Given the description of an element on the screen output the (x, y) to click on. 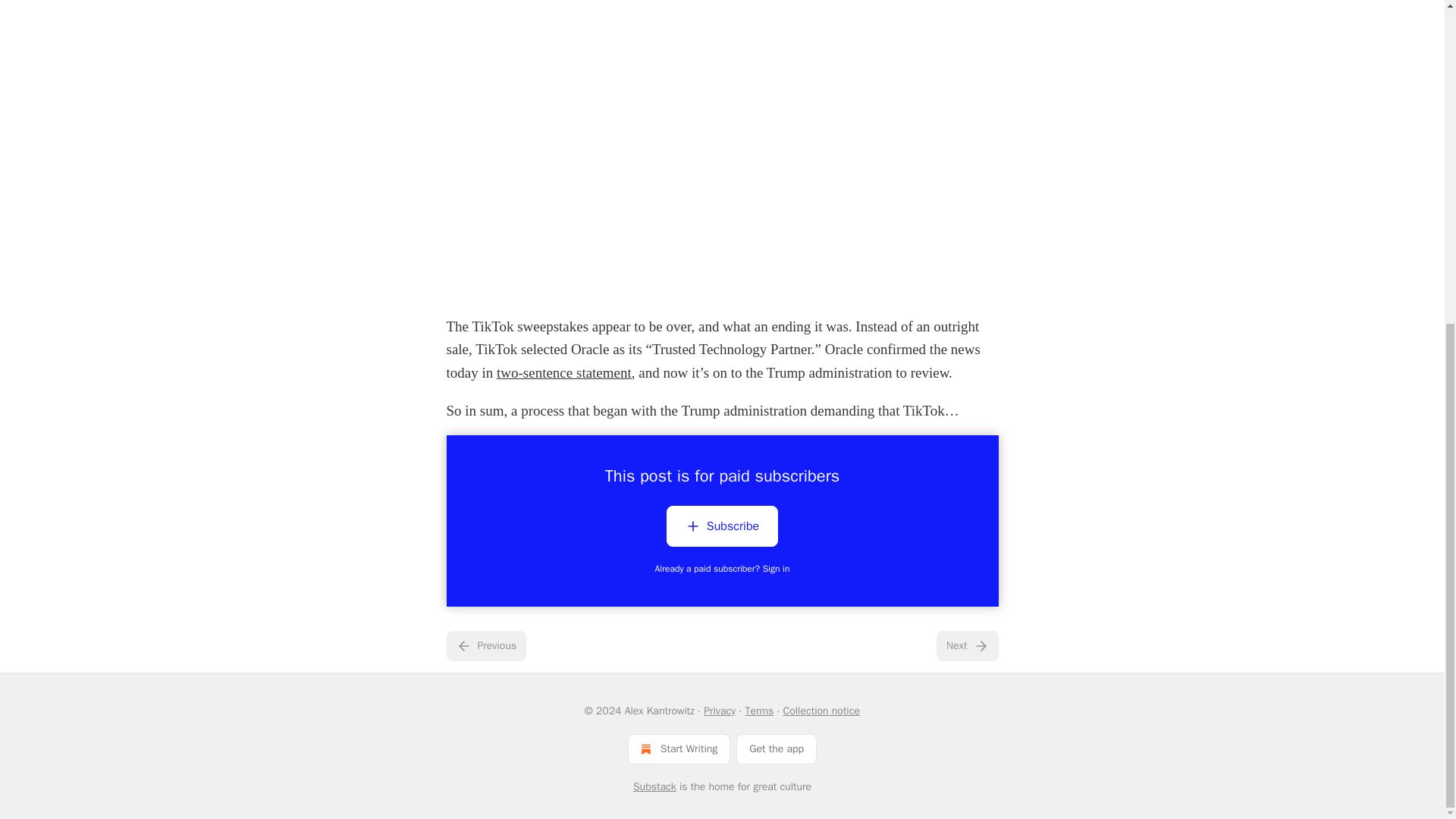
Collection notice (821, 710)
Terms (758, 710)
Subscribe (721, 526)
Privacy (719, 710)
Next (966, 645)
Previous (485, 645)
Start Writing (678, 748)
two-sentence statement (563, 372)
Substack (655, 786)
Subscribe (721, 529)
